Given the description of an element on the screen output the (x, y) to click on. 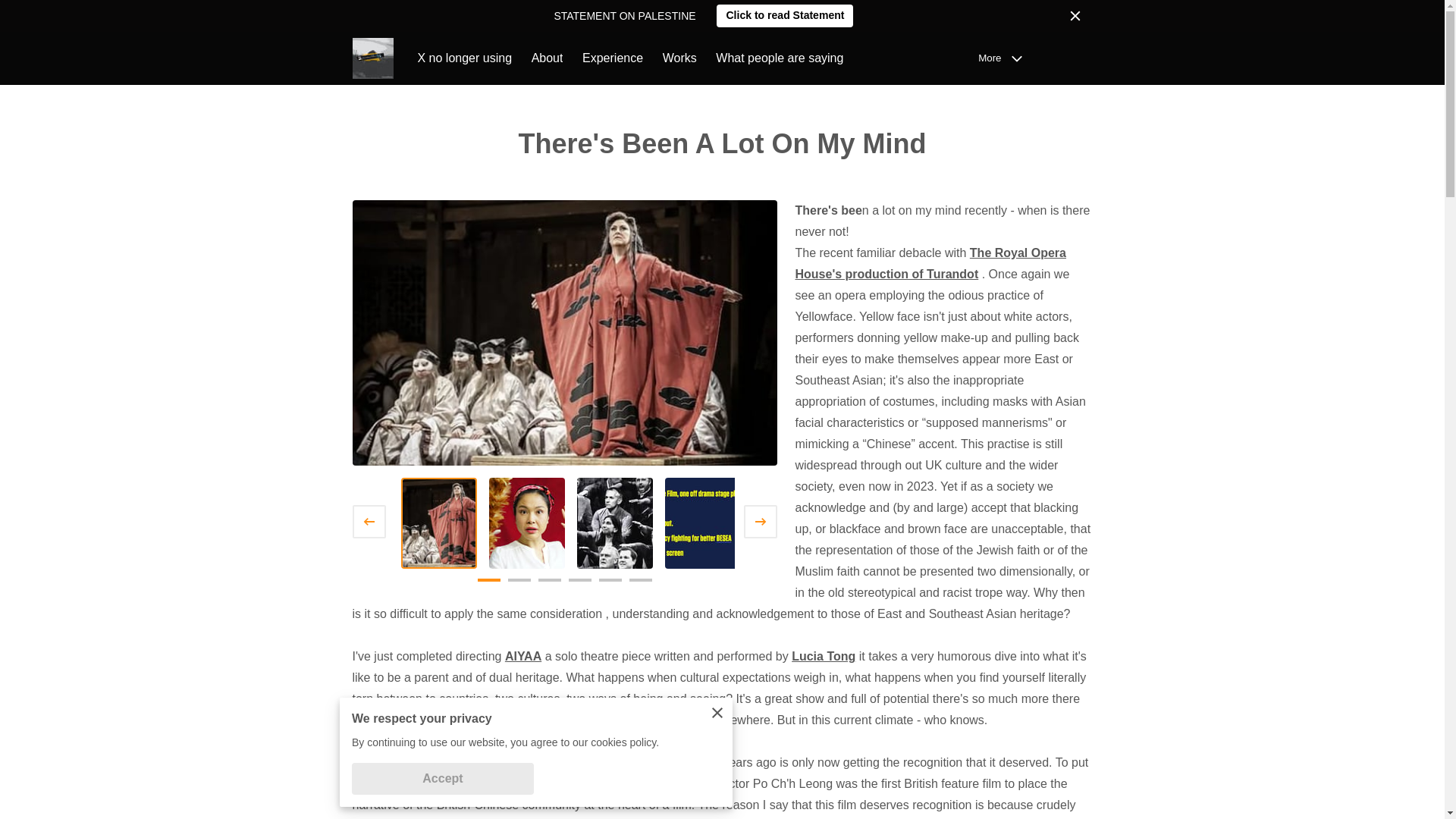
Works (679, 58)
5 (609, 585)
2 (519, 585)
4 (580, 585)
What people are saying (779, 58)
X no longer using (464, 58)
More (1004, 58)
About (547, 58)
Lucia Tong (824, 656)
Experience (612, 58)
